Given the description of an element on the screen output the (x, y) to click on. 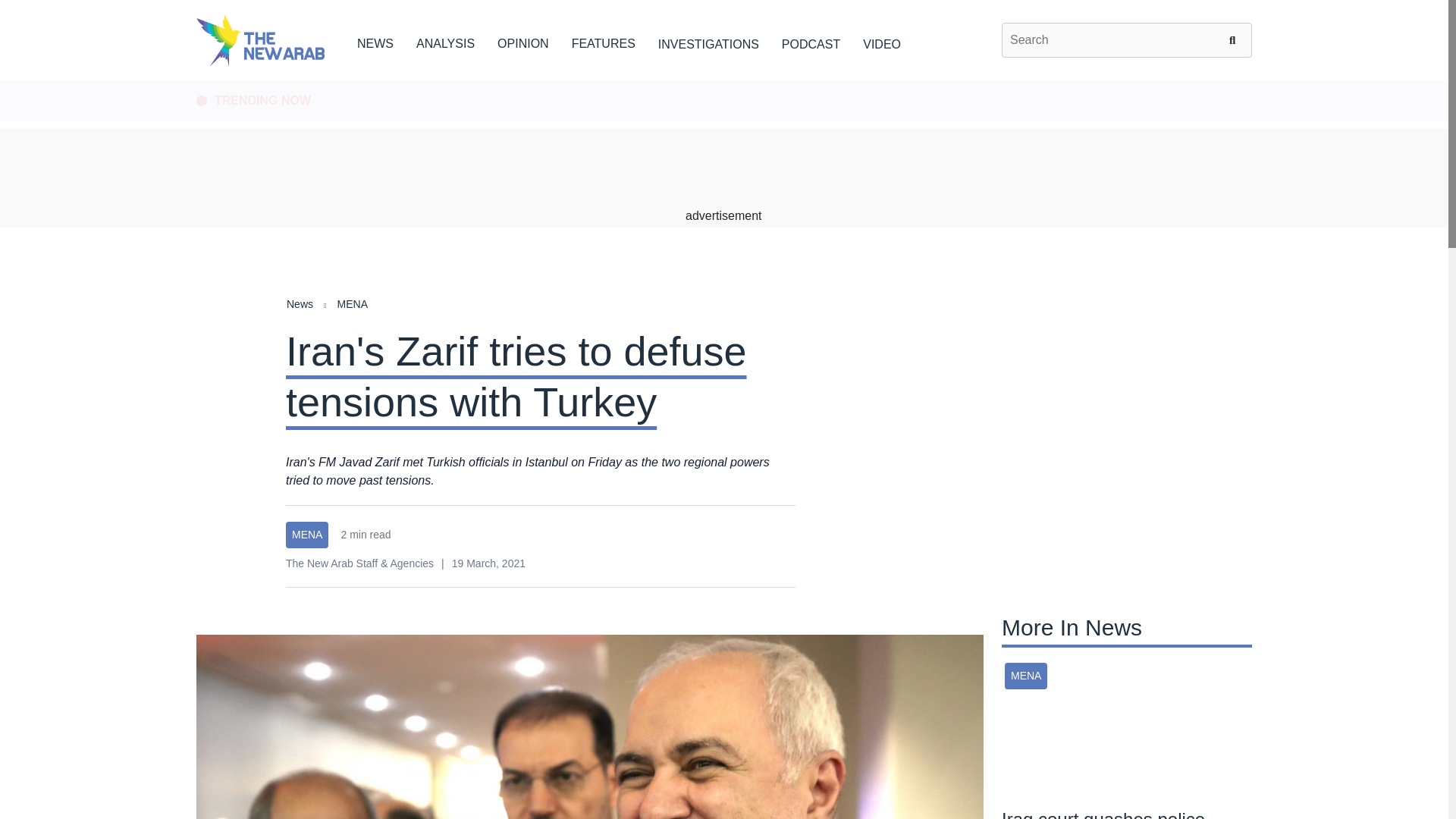
ANALYSIS (445, 41)
Search (1234, 39)
OPINION (523, 41)
NEWS (375, 41)
Skip to main content (724, 81)
